Given the description of an element on the screen output the (x, y) to click on. 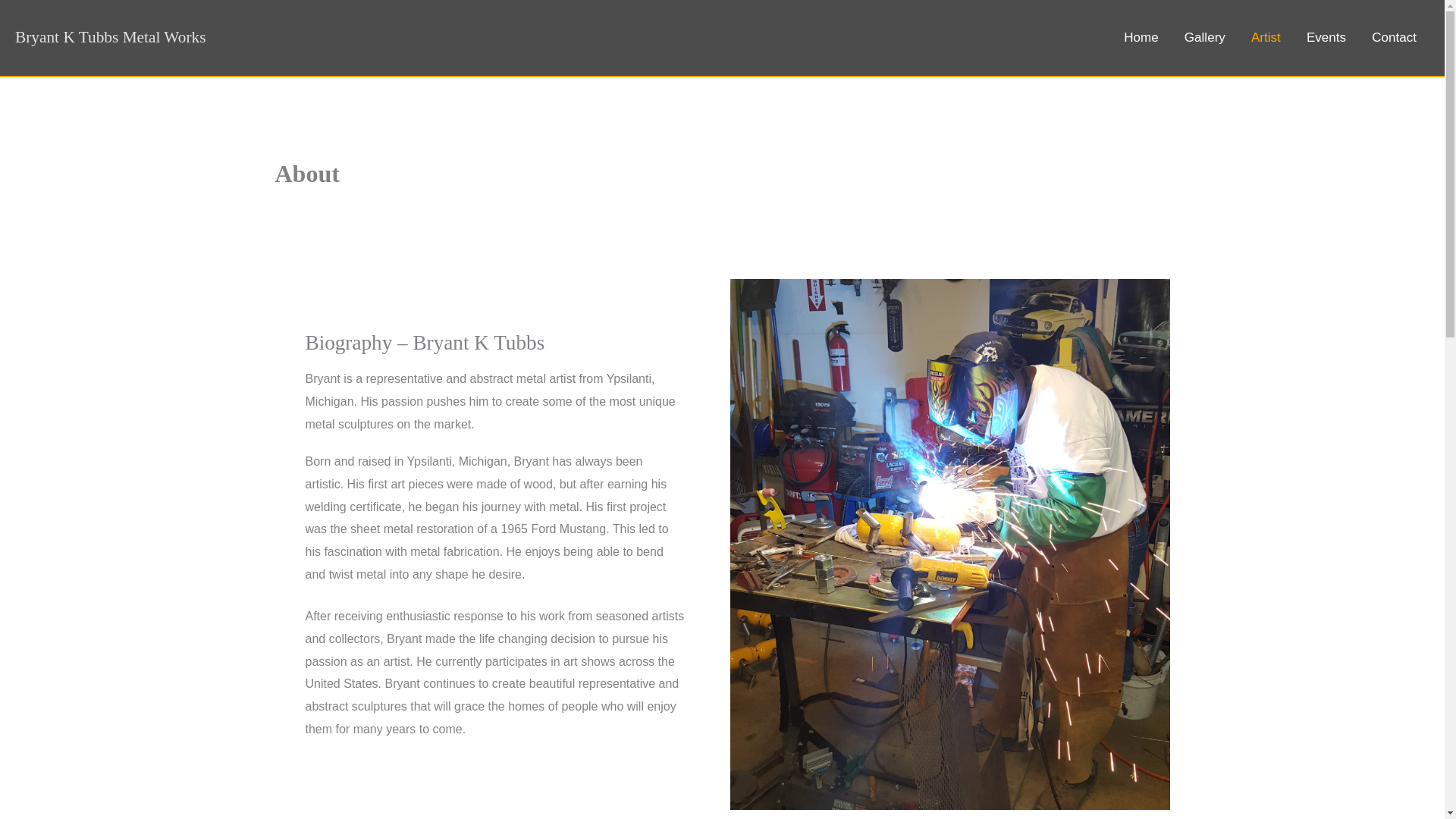
Home (1141, 37)
Gallery (1205, 37)
Events (1326, 37)
Bryant K Tubbs Metal Works (109, 36)
Artist (1266, 37)
Contact (1393, 37)
